Given the description of an element on the screen output the (x, y) to click on. 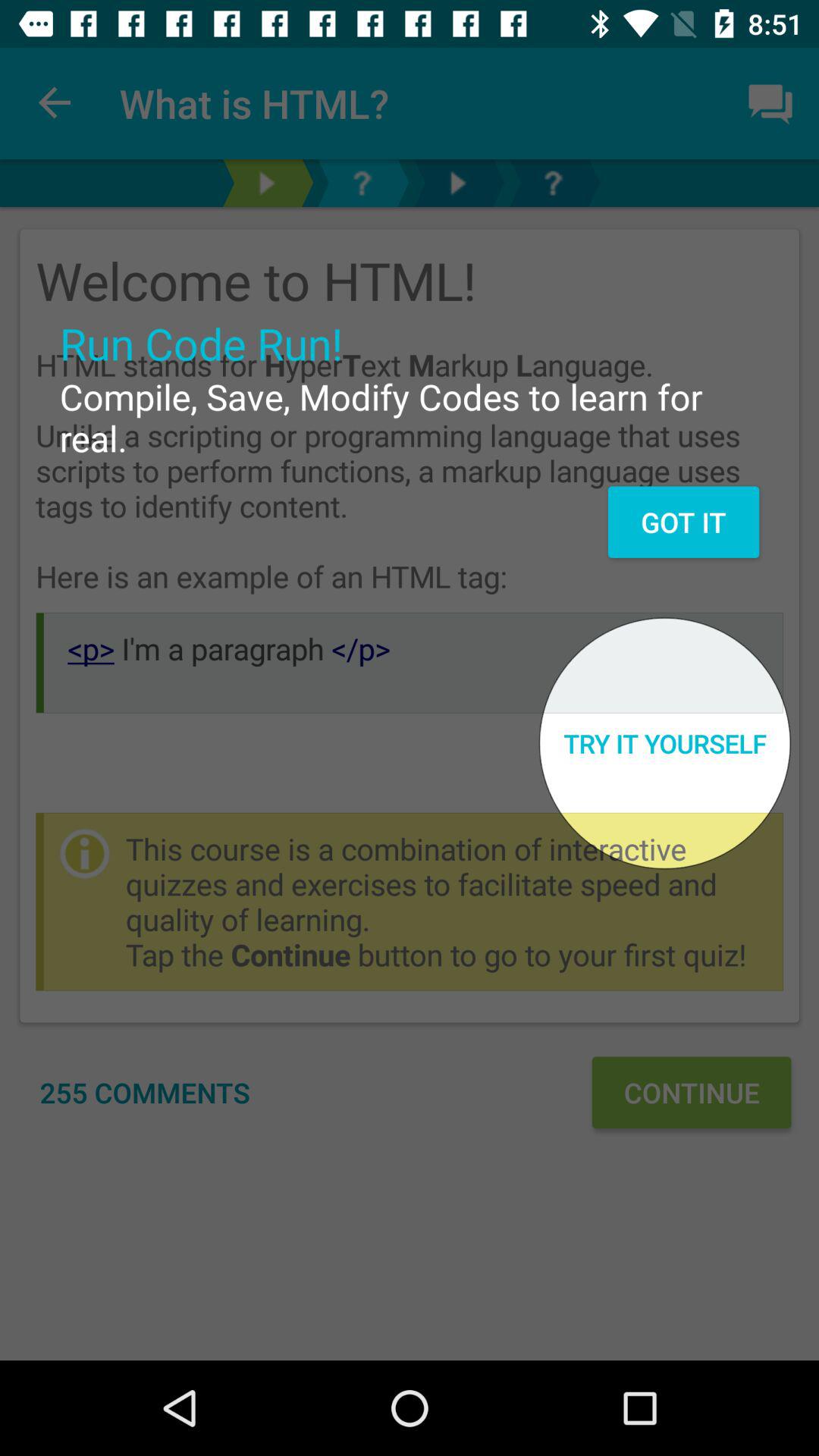
question (361, 183)
